Given the description of an element on the screen output the (x, y) to click on. 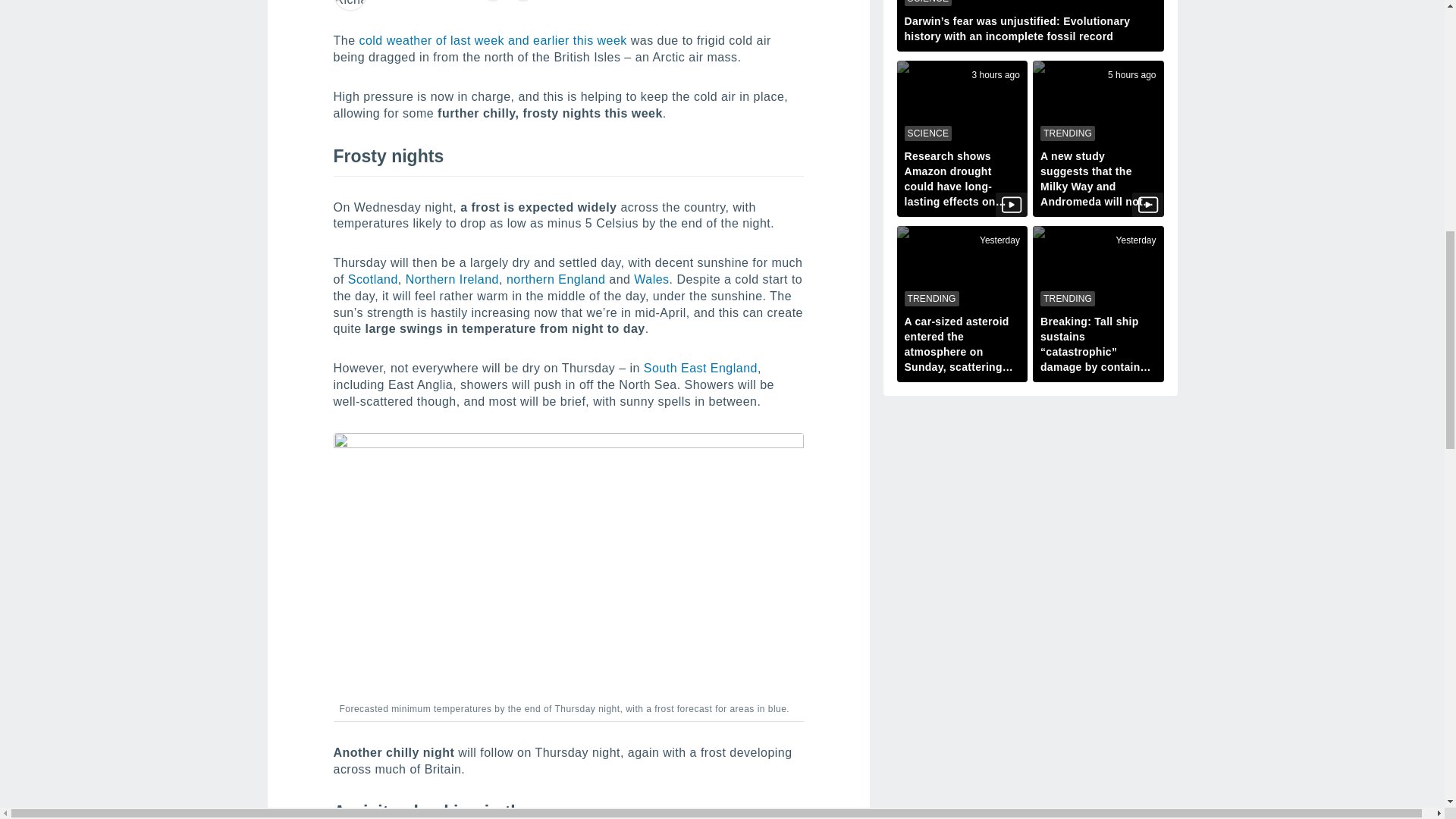
South East England (700, 367)
cold weather of last week and earlier this week (492, 40)
Northern Ireland (452, 278)
Scotland (372, 278)
northern England (555, 278)
Wales (650, 278)
